Given the description of an element on the screen output the (x, y) to click on. 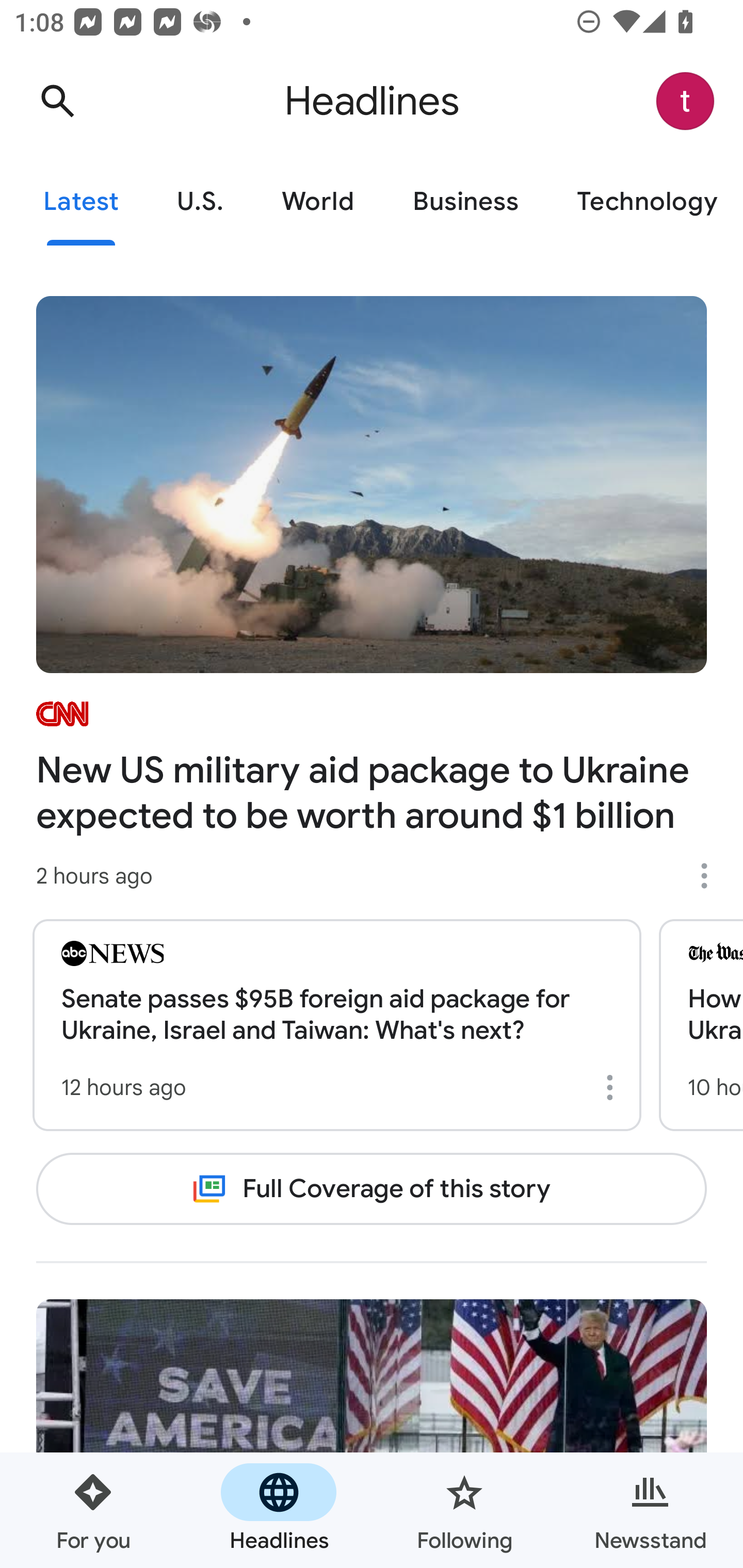
Search (57, 100)
U.S. (199, 202)
World (317, 202)
Business (465, 202)
Technology (645, 202)
More options (711, 875)
More options (613, 1086)
Full Coverage of this story (371, 1188)
For you (92, 1509)
Headlines (278, 1509)
Following (464, 1509)
Newsstand (650, 1509)
